Given the description of an element on the screen output the (x, y) to click on. 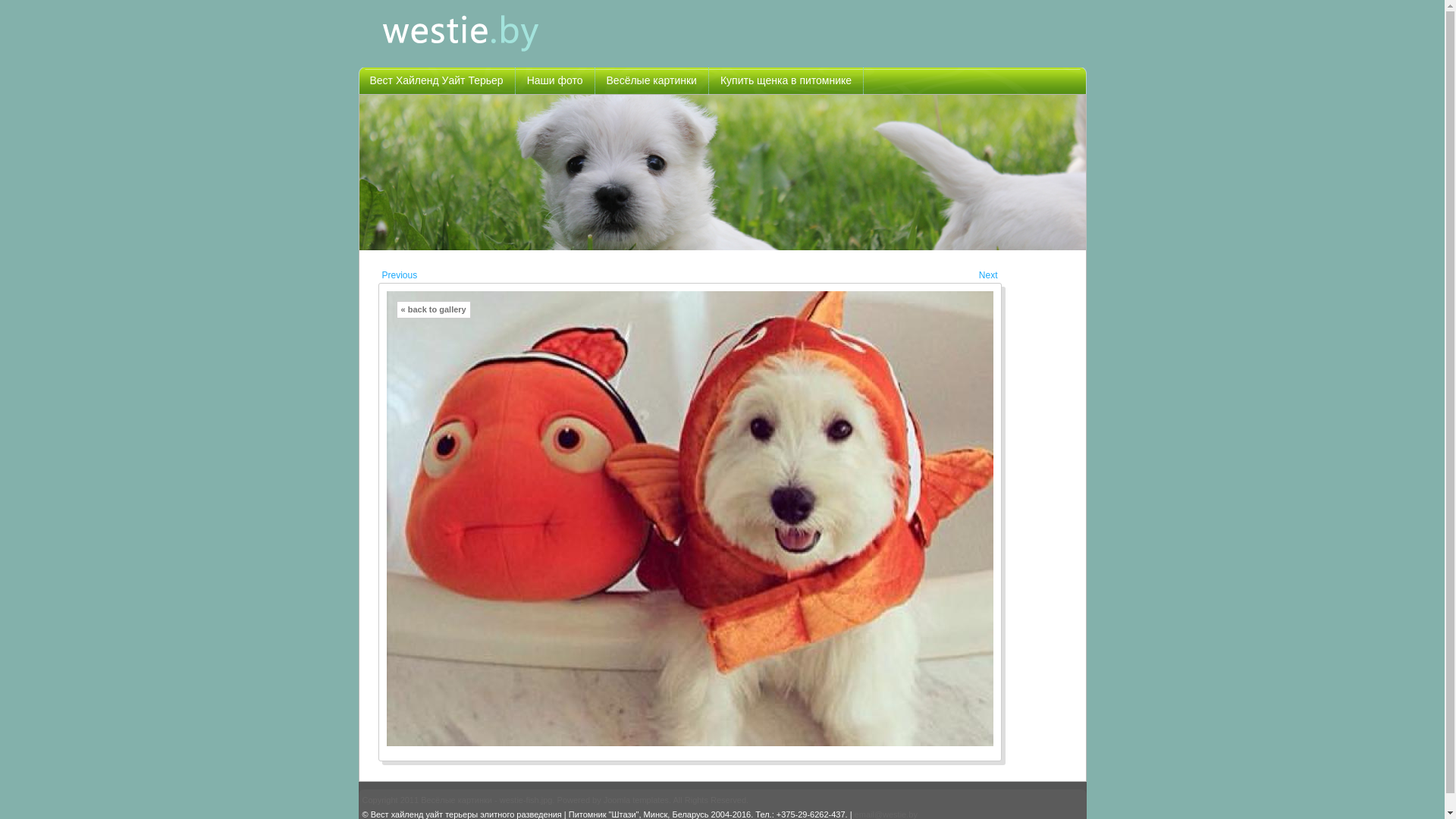
Joomla templates Element type: text (635, 799)
Next Element type: text (988, 275)
westie-fish.jpg Element type: hover (689, 518)
Previous Element type: text (399, 275)
